Given the description of an element on the screen output the (x, y) to click on. 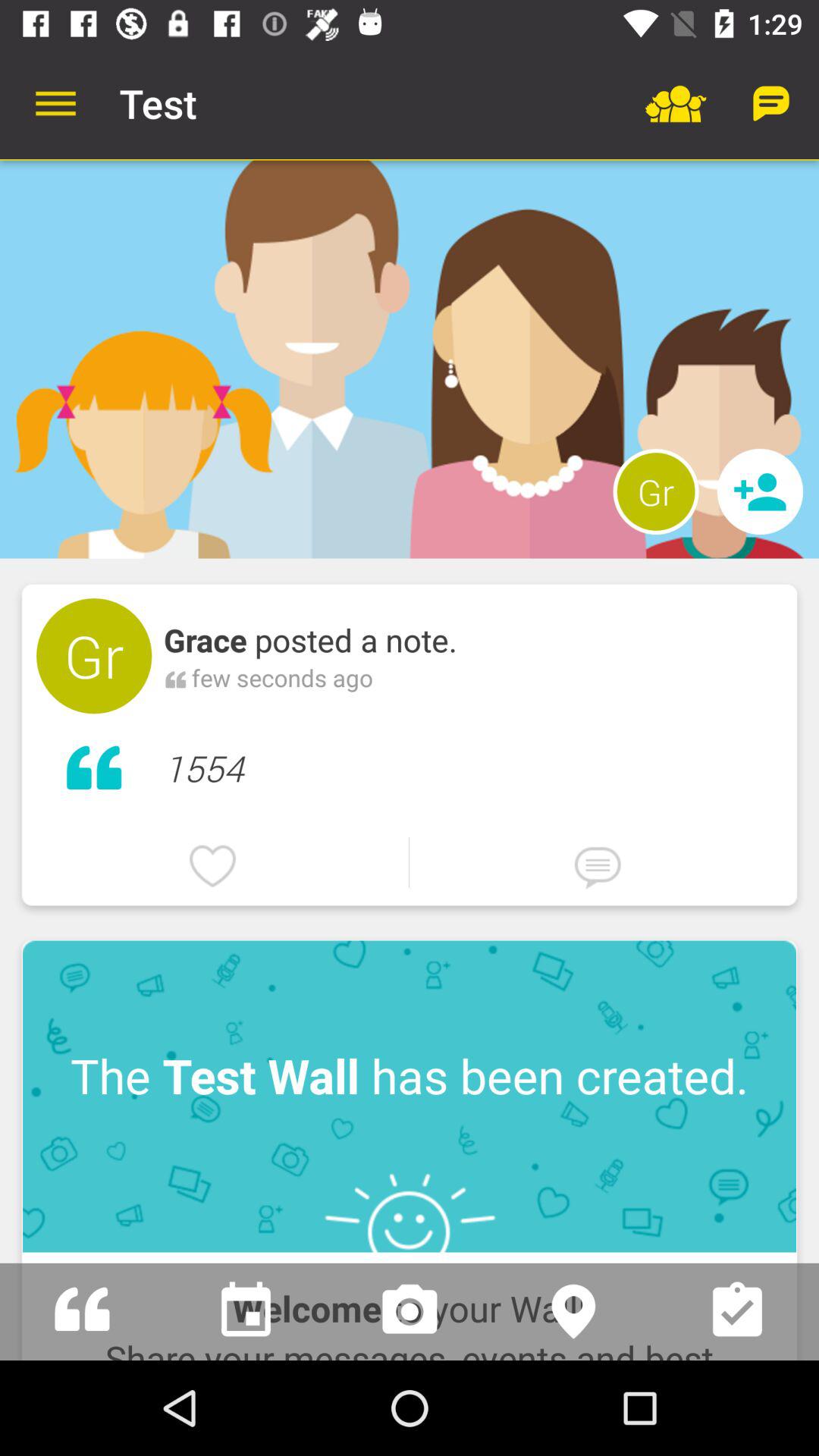
jump to grace posted a icon (310, 639)
